Given the description of an element on the screen output the (x, y) to click on. 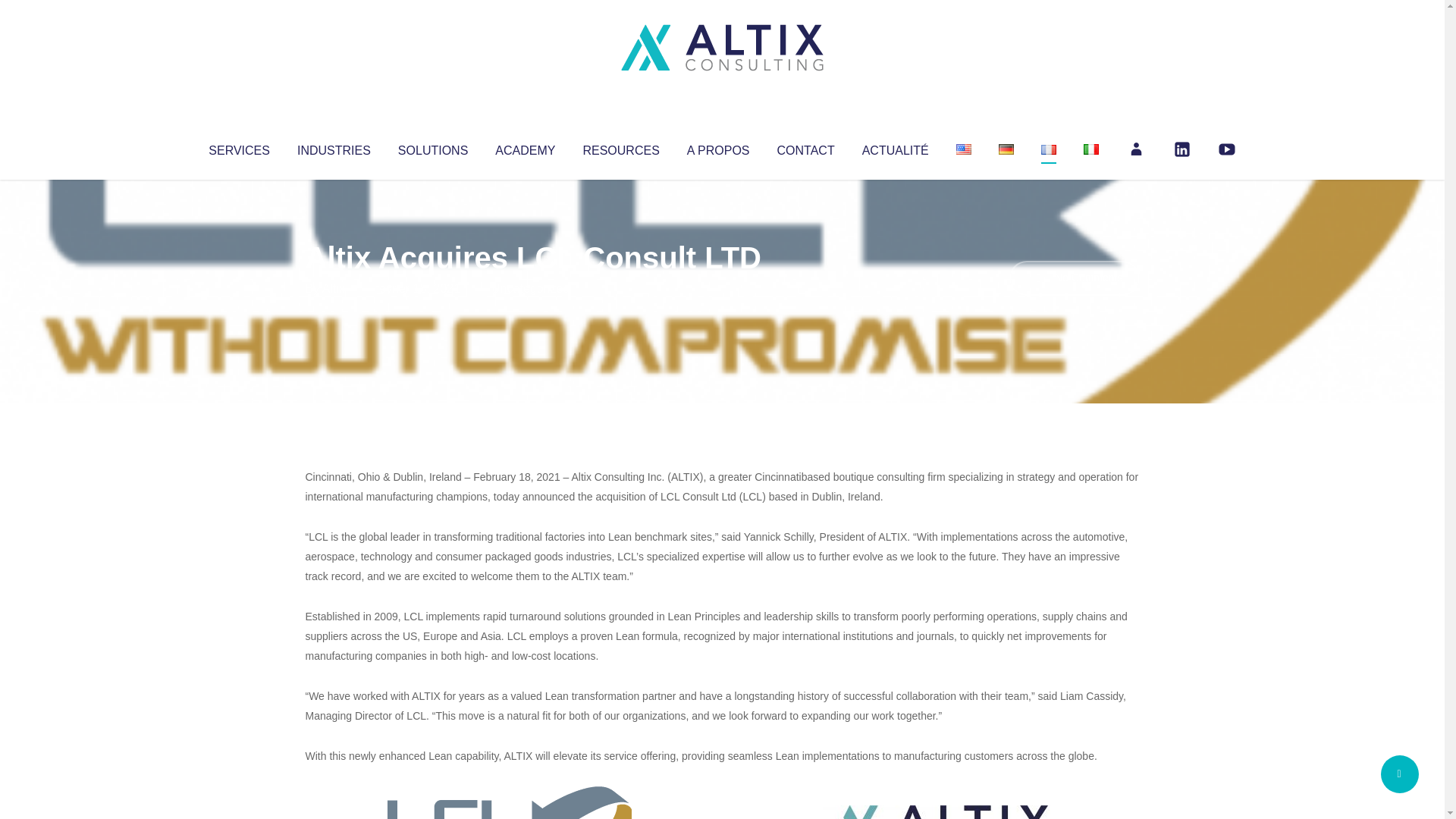
RESOURCES (620, 146)
A PROPOS (718, 146)
Altix (333, 287)
SERVICES (238, 146)
ACADEMY (524, 146)
Uncategorized (530, 287)
Articles par Altix (333, 287)
INDUSTRIES (334, 146)
SOLUTIONS (432, 146)
No Comments (1073, 278)
